Given the description of an element on the screen output the (x, y) to click on. 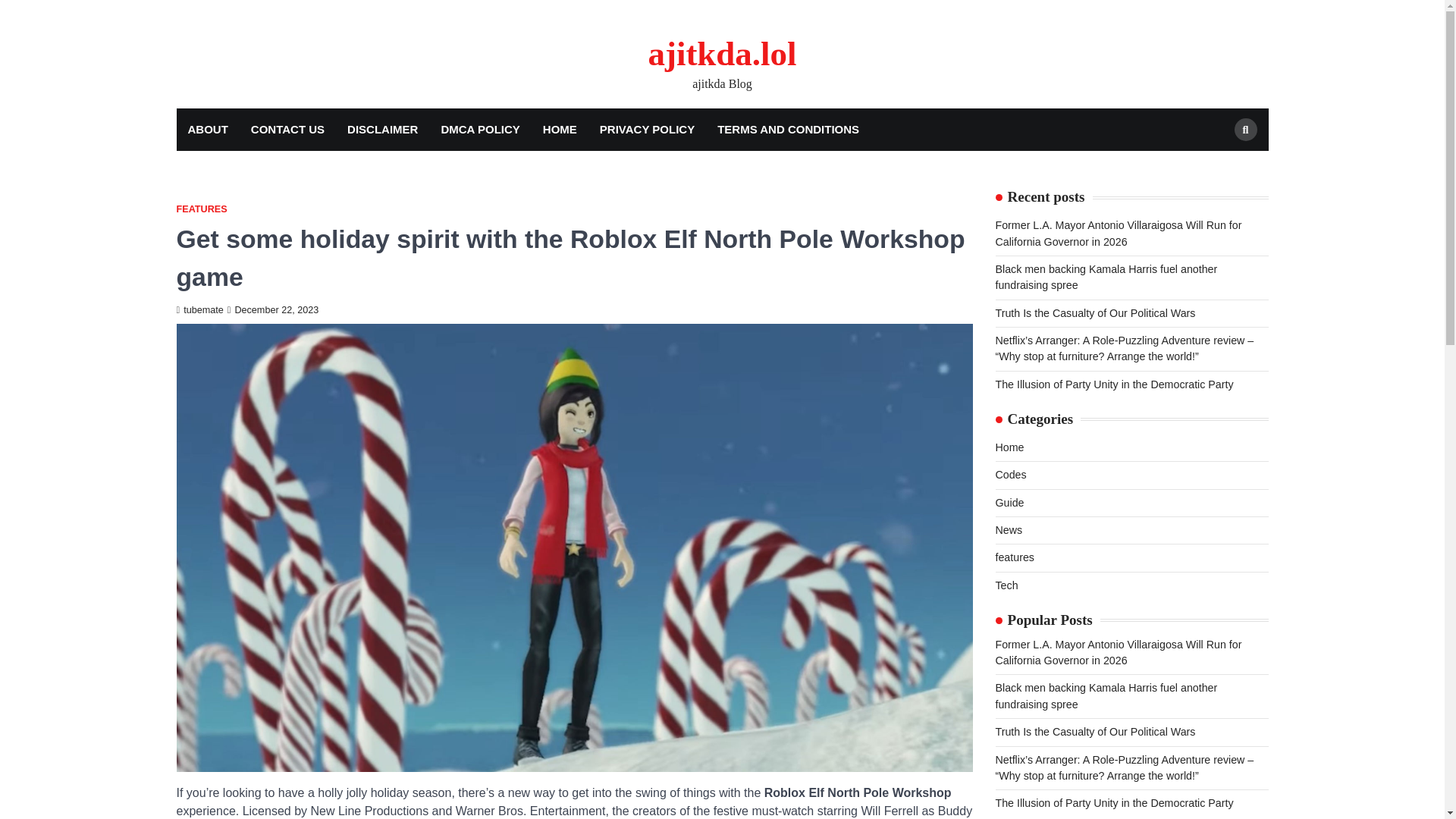
Truth Is the Casualty of Our Political Wars (1094, 313)
Home (1008, 447)
The Illusion of Party Unity in the Democratic Party (1113, 802)
DISCLAIMER (382, 129)
tubemate (199, 309)
The Illusion of Party Unity in the Democratic Party (1113, 384)
Search (1245, 128)
FEATURES (201, 209)
Tech (1005, 585)
December 22, 2023 (272, 309)
TERMS AND CONDITIONS (788, 129)
features (1013, 557)
Truth Is the Casualty of Our Political Wars (1094, 731)
